Given the description of an element on the screen output the (x, y) to click on. 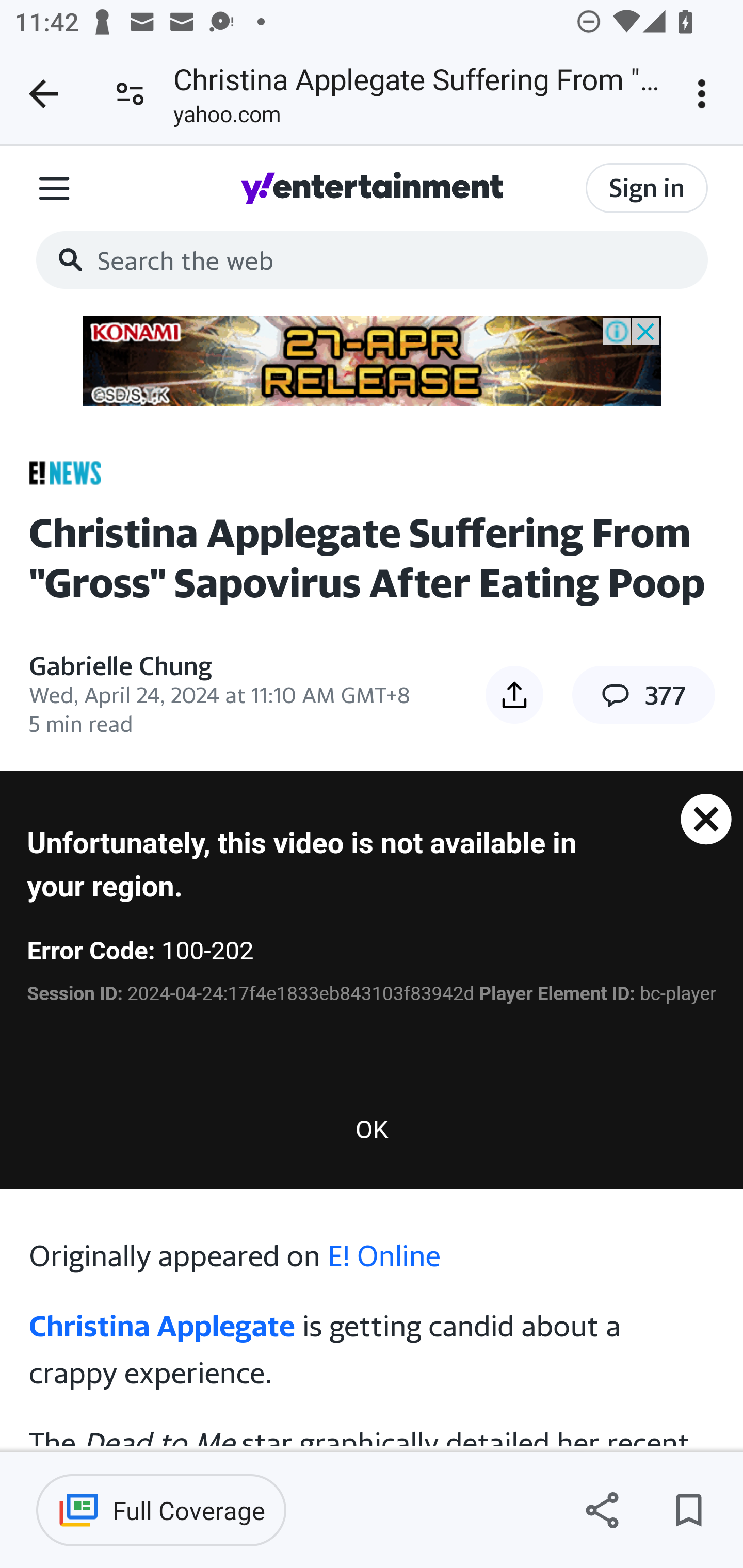
Close tab (43, 93)
Customize and control Google Chrome (705, 93)
Connection is secure (129, 93)
yahoo.com (226, 117)
Yahoo Entertainment (371, 187)
Sign in (647, 188)
Y! Sites (54, 187)
E! News (64, 472)
377 (643, 694)
Close Modal Dialog (705, 808)
OK (372, 1128)
E! Online (384, 1254)
Christina Applegate (162, 1325)
Full Coverage (161, 1509)
Share (601, 1510)
Save for later (688, 1510)
